Given the description of an element on the screen output the (x, y) to click on. 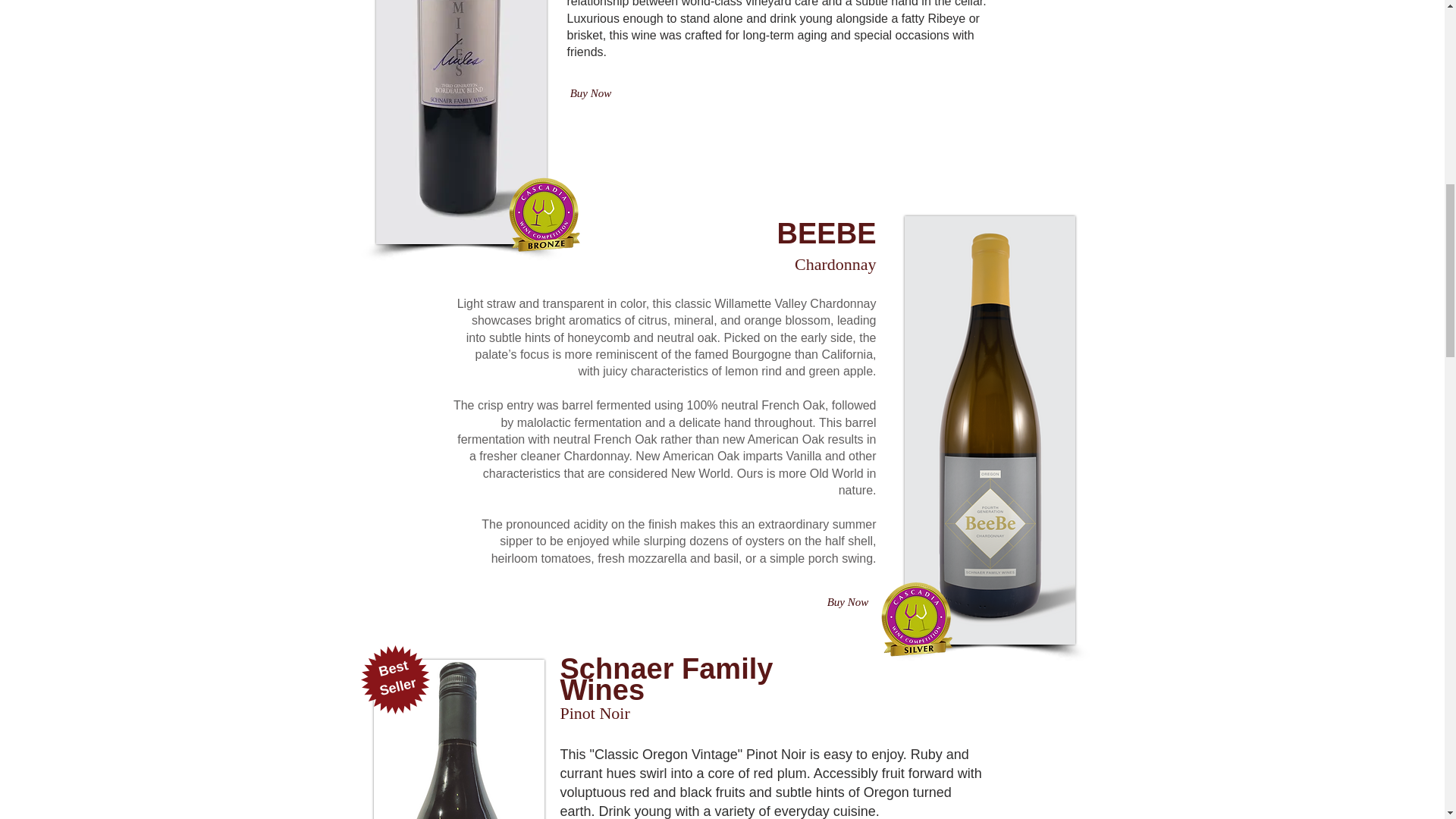
Buy Now (847, 601)
Buy Now (591, 93)
